Given the description of an element on the screen output the (x, y) to click on. 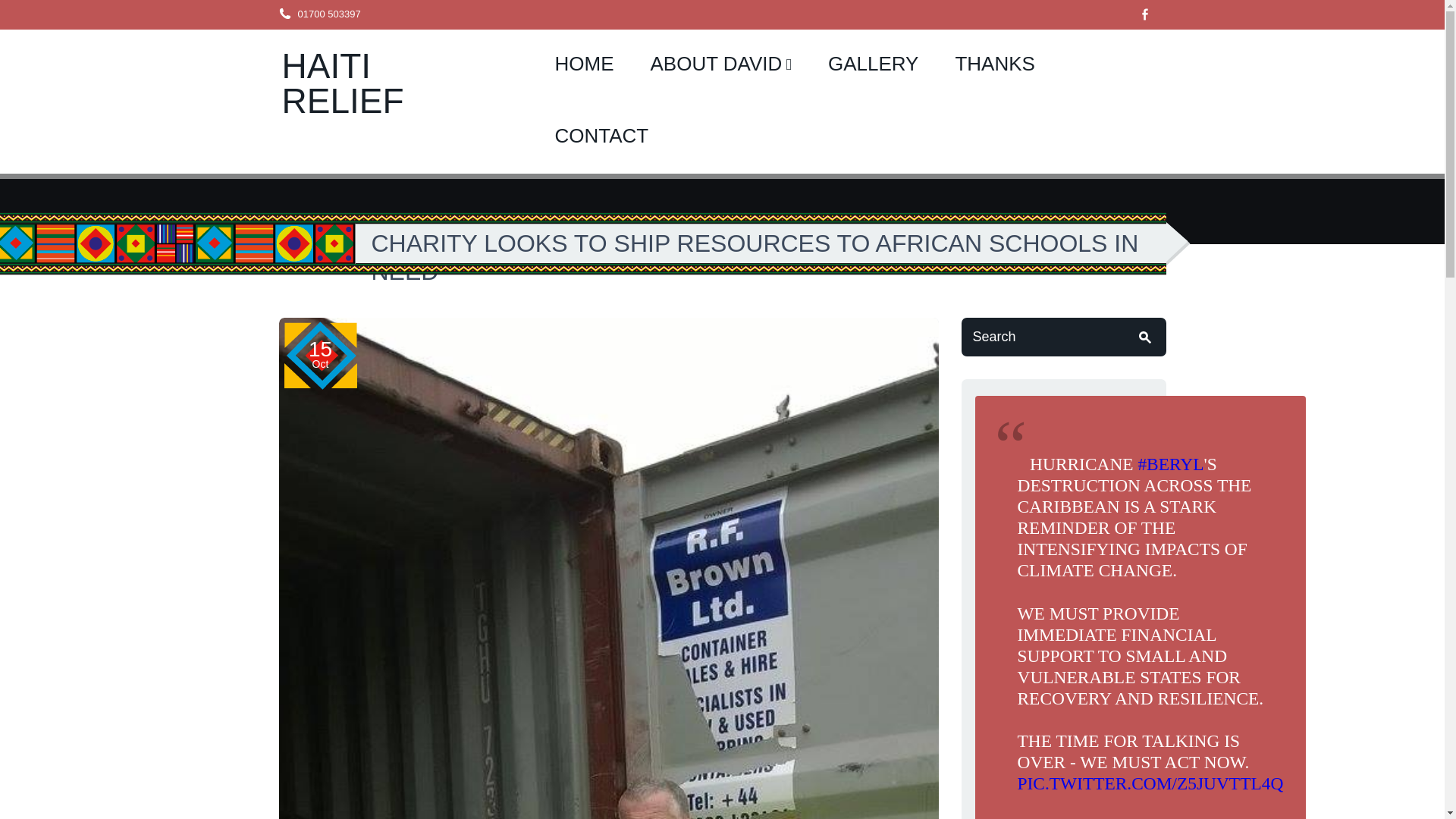
GALLERY (872, 65)
Search (1063, 336)
CONTACT (601, 137)
HAITI RELIEF (343, 82)
THANKS (994, 65)
ABOUT DAVID (720, 65)
HOME (584, 65)
July 2, 2024 (1212, 817)
Surplus Educational Supplies Foundation (343, 82)
